Given the description of an element on the screen output the (x, y) to click on. 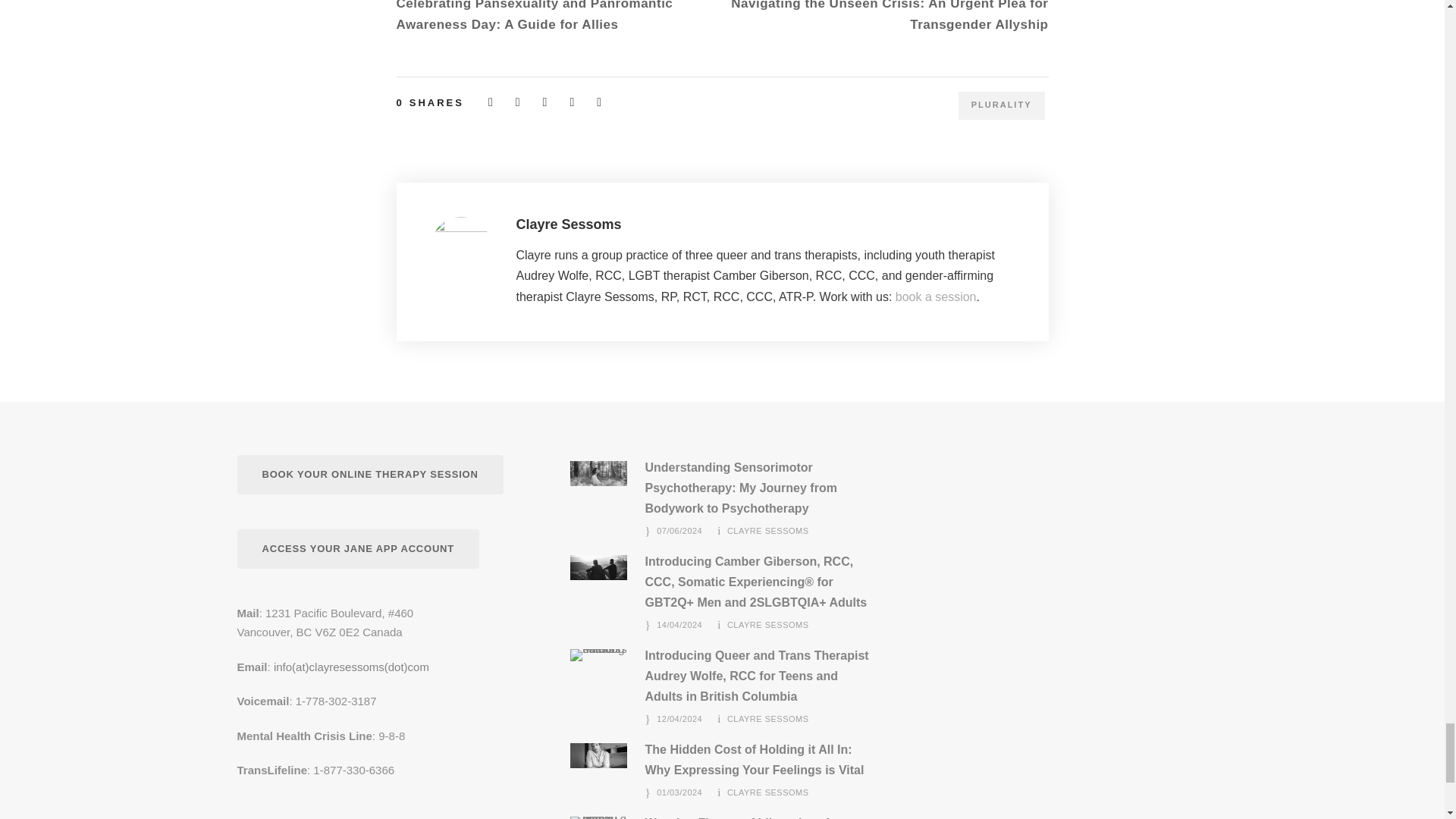
PLURALITY (1001, 105)
book a session (935, 295)
Posts by Clayre Sessoms (767, 624)
Posts by Clayre Sessoms (767, 718)
BOOK YOUR ONLINE THERAPY SESSION (368, 475)
ACCESS YOUR JANE APP ACCOUNT (357, 549)
Clayre Sessoms (568, 224)
